Given the description of an element on the screen output the (x, y) to click on. 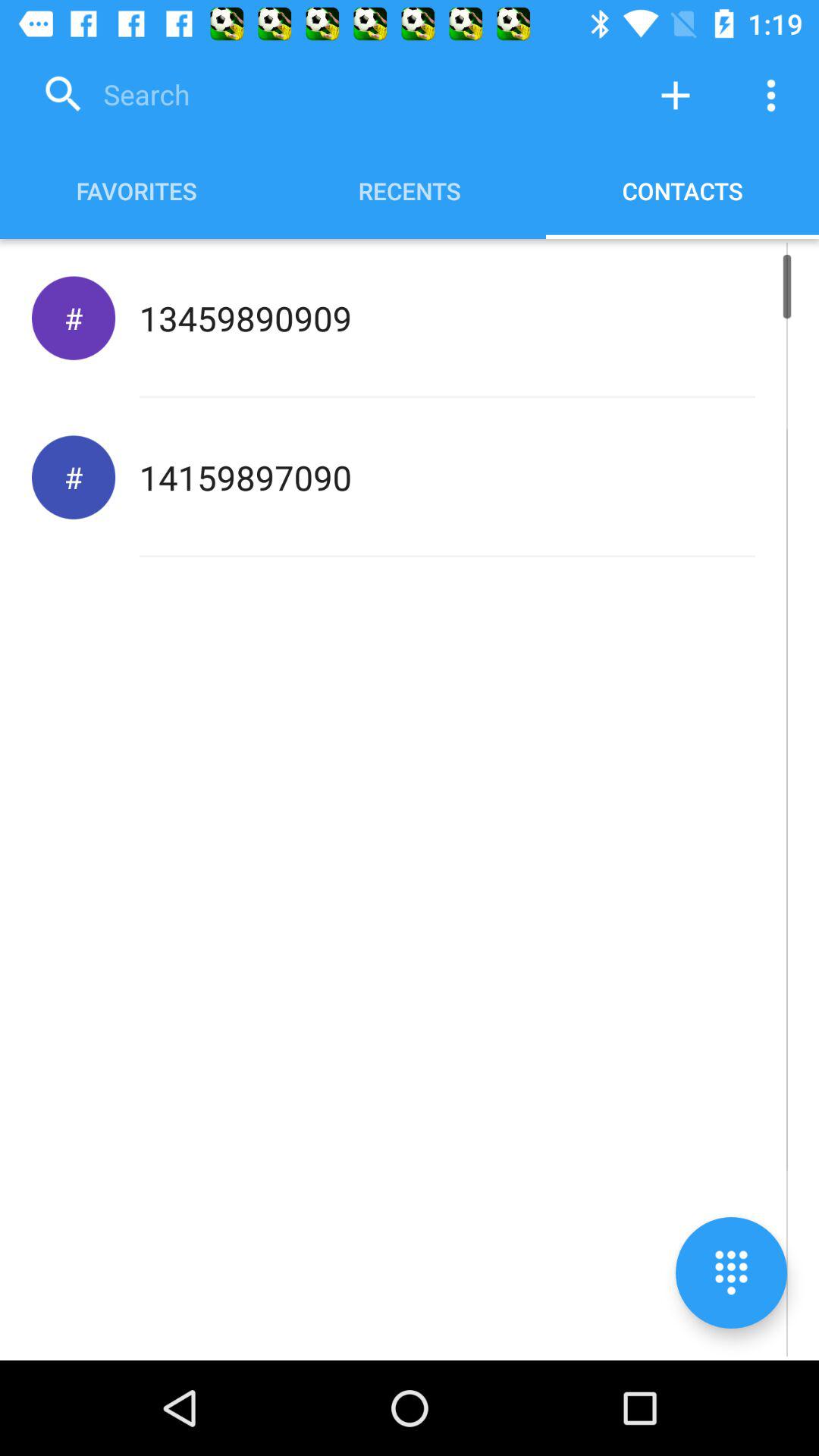
add contact (675, 95)
